Given the description of an element on the screen output the (x, y) to click on. 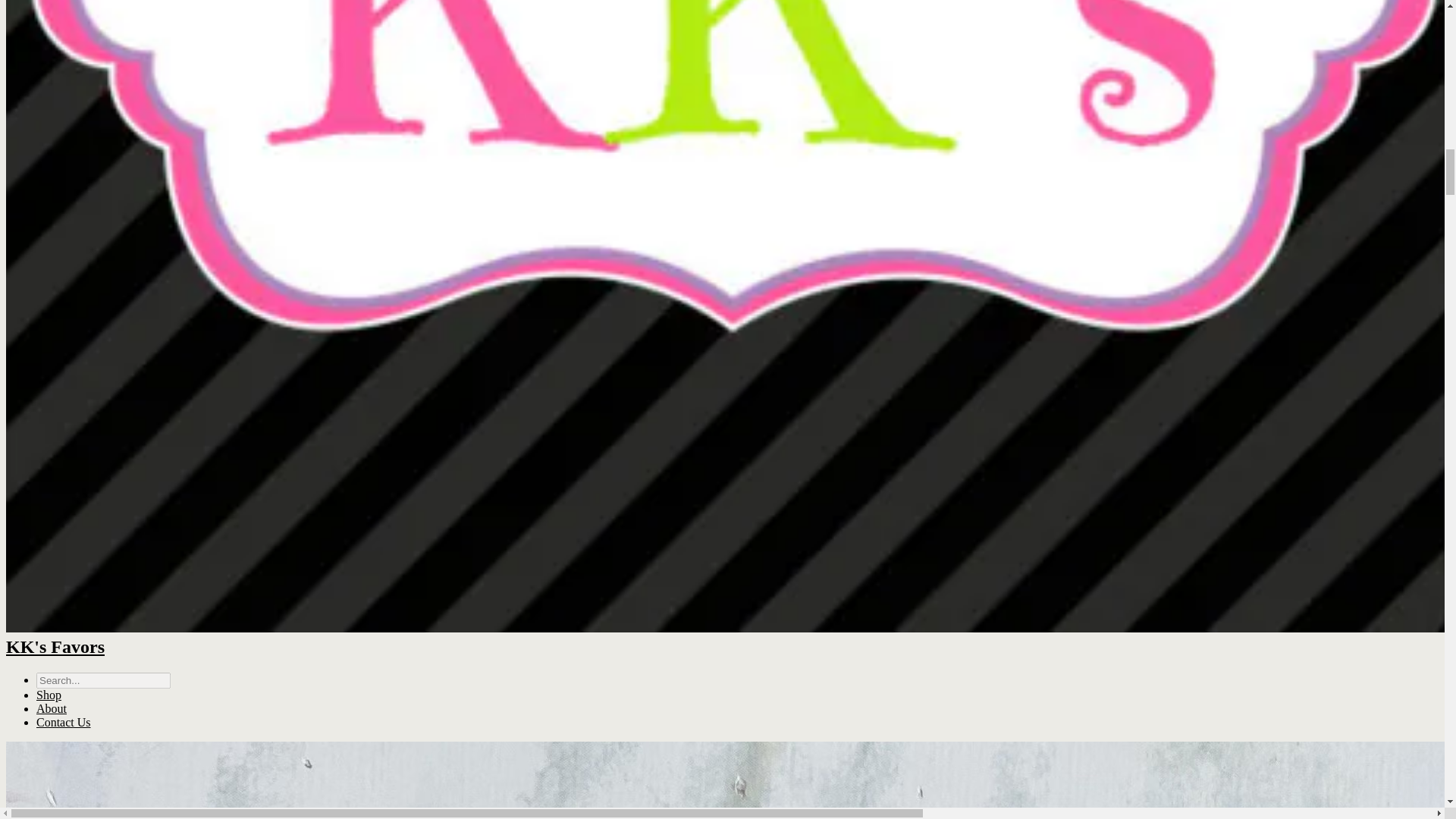
Shop (48, 694)
Contact Us (63, 721)
About (51, 707)
